Given the description of an element on the screen output the (x, y) to click on. 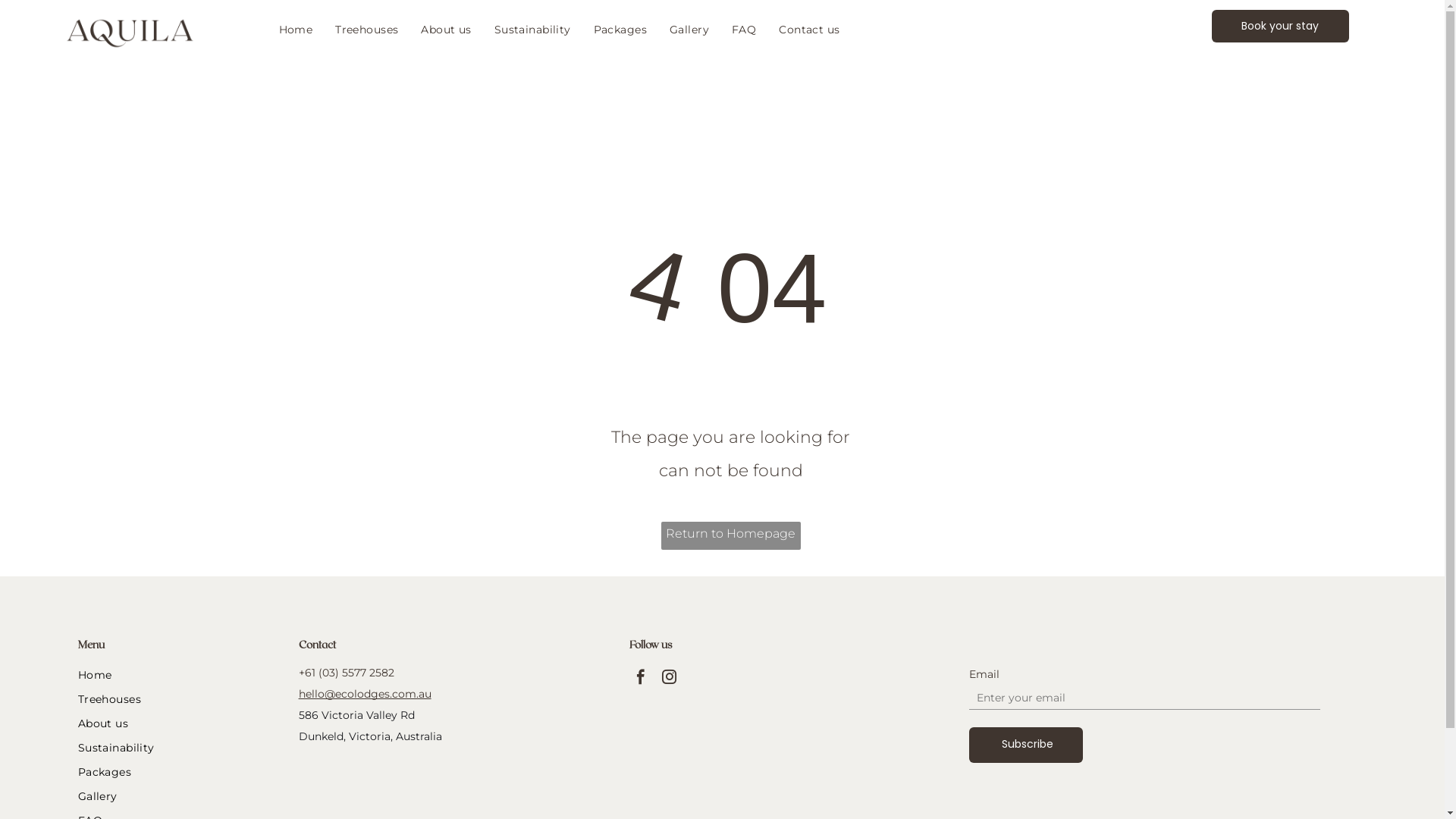
Book your stay Element type: text (1280, 25)
Treehouses Element type: text (179, 699)
Sustainability Element type: text (179, 747)
Sustainability Element type: text (532, 29)
Subscribe Element type: text (1027, 743)
Packages Element type: text (179, 771)
Treehouses Element type: text (366, 29)
+61 (03) 5577 2582 Element type: text (346, 672)
Packages Element type: text (620, 29)
Gallery Element type: text (179, 796)
About us Element type: text (179, 723)
FAQ Element type: text (743, 29)
Return to Homepage Element type: text (730, 535)
Contact us Element type: text (808, 29)
hello@ecolodges.com.au Element type: text (364, 693)
Gallery Element type: text (689, 29)
Home Element type: text (294, 29)
Home Element type: text (179, 674)
About us Element type: text (445, 29)
